Given the description of an element on the screen output the (x, y) to click on. 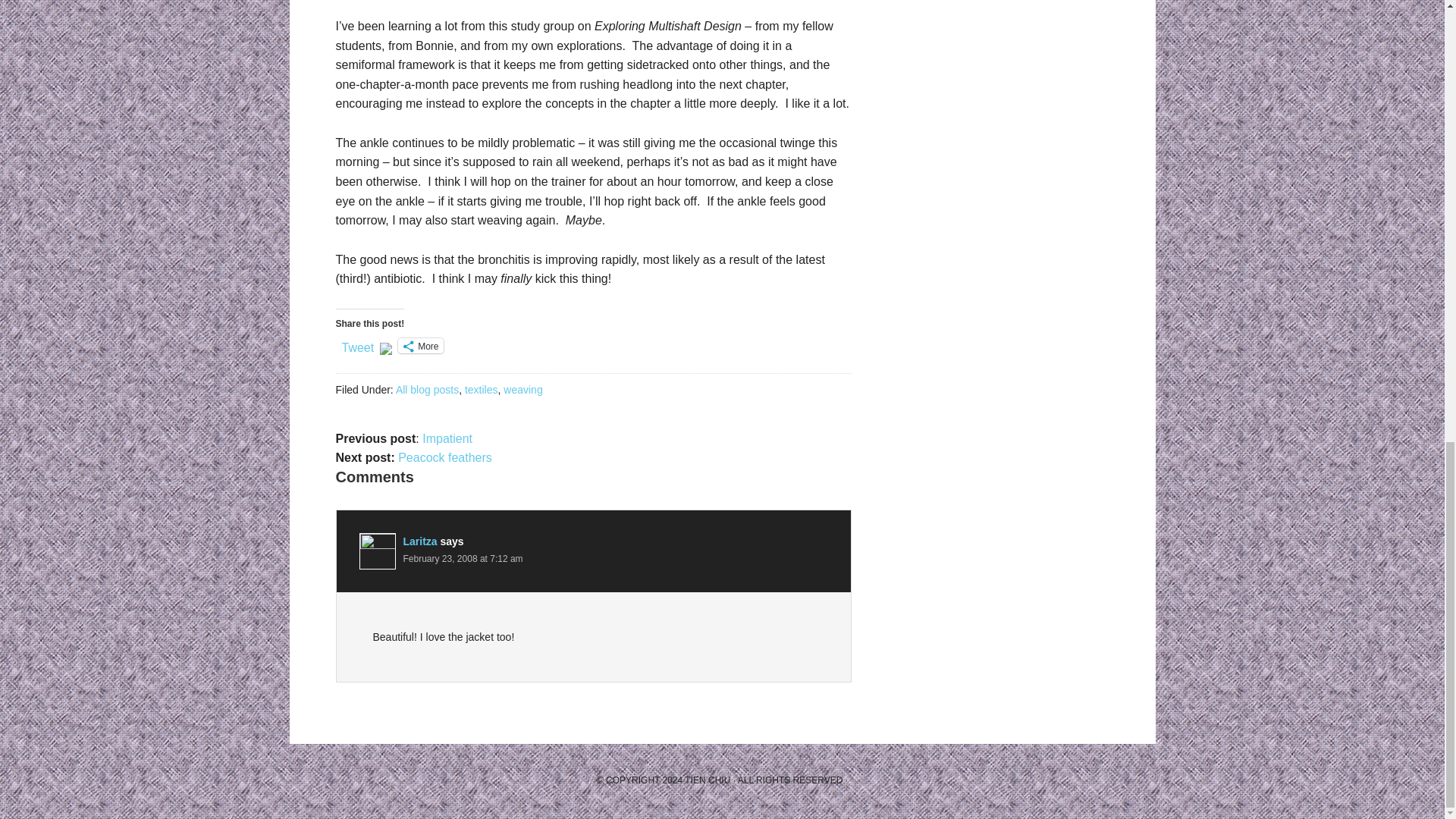
TIEN CHIU (707, 779)
February 23, 2008 at 7:12 am (462, 558)
Impatient (446, 438)
More (419, 345)
Laritza (420, 541)
weaving (522, 389)
Tweet (357, 345)
All blog posts (427, 389)
textiles (480, 389)
Peacock feathers (444, 457)
